Given the description of an element on the screen output the (x, y) to click on. 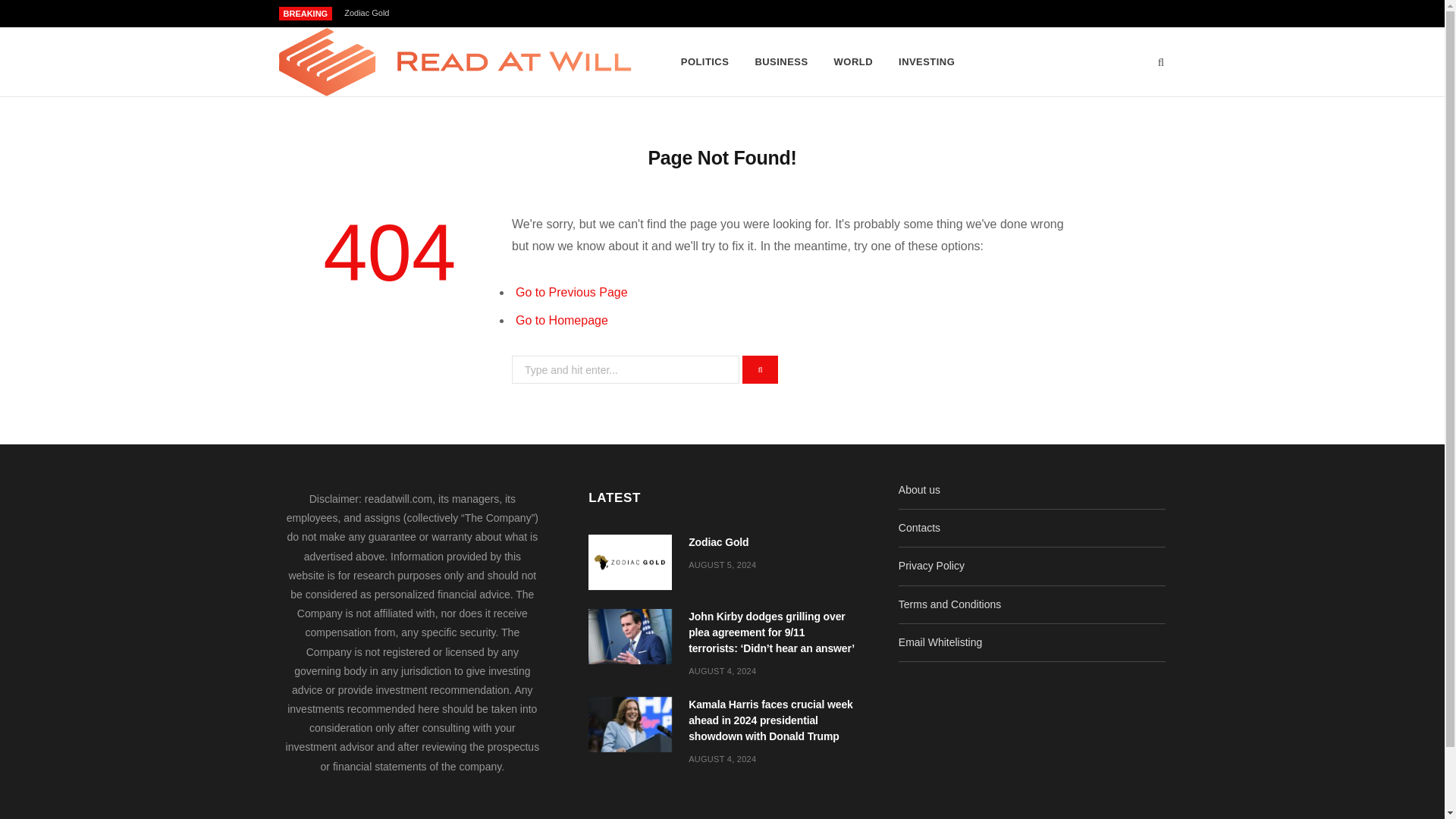
POLITICS (705, 61)
Email Whitelisting (939, 642)
Zodiac Gold (369, 12)
Go to Homepage (561, 319)
Terms and Conditions (949, 604)
AUGUST 5, 2024 (721, 564)
AUGUST 4, 2024 (721, 670)
Contacts (919, 527)
About us (919, 490)
INVESTING (926, 61)
Zodiac Gold (369, 12)
AUGUST 4, 2024 (721, 758)
Zodiac Gold (629, 561)
Read At Will (455, 61)
Go to Previous Page (571, 291)
